Given the description of an element on the screen output the (x, y) to click on. 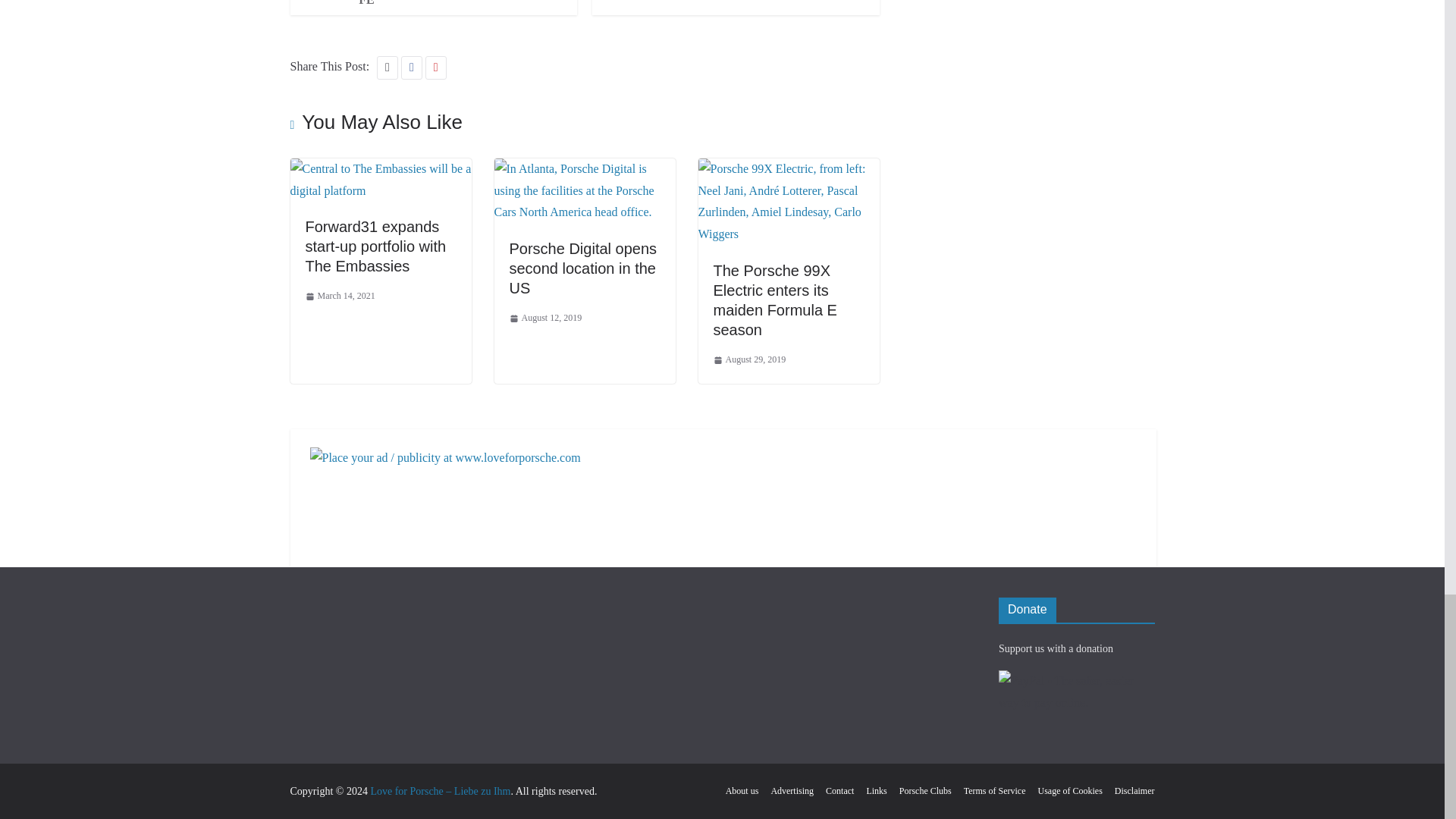
Porsche Digital opens second location in the US (585, 168)
10:57 am (339, 296)
Forward31 expands start-up portfolio with The Embassies (379, 168)
Forward31 expands start-up portfolio with The Embassies (374, 246)
